Given the description of an element on the screen output the (x, y) to click on. 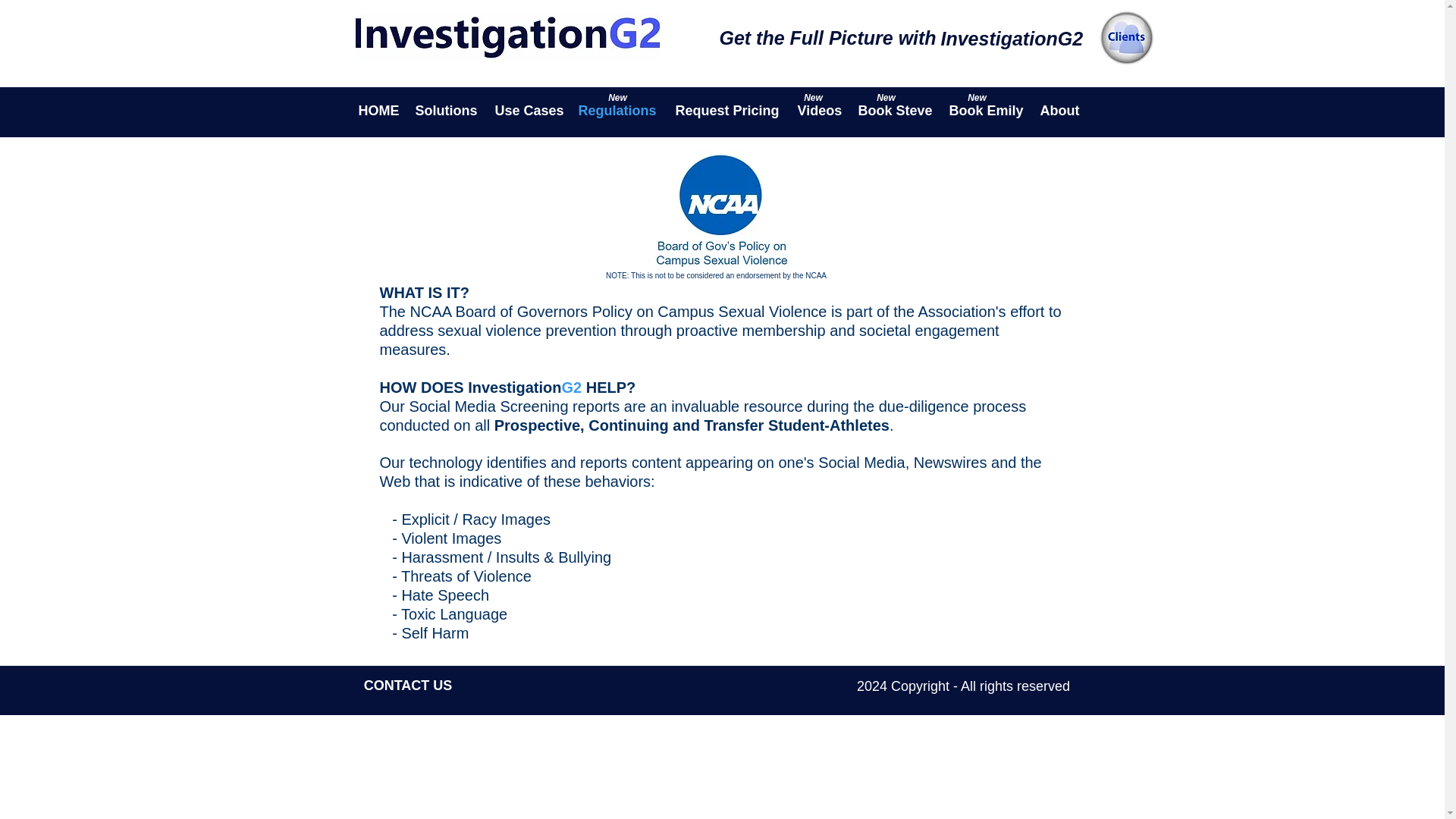
Videos (820, 110)
CONTACT US (408, 685)
Solutions (447, 110)
About (1060, 110)
Request Pricing (727, 110)
Book Steve (896, 110)
HOME (378, 110)
Regulations (618, 110)
Book Emily (987, 110)
